Given the description of an element on the screen output the (x, y) to click on. 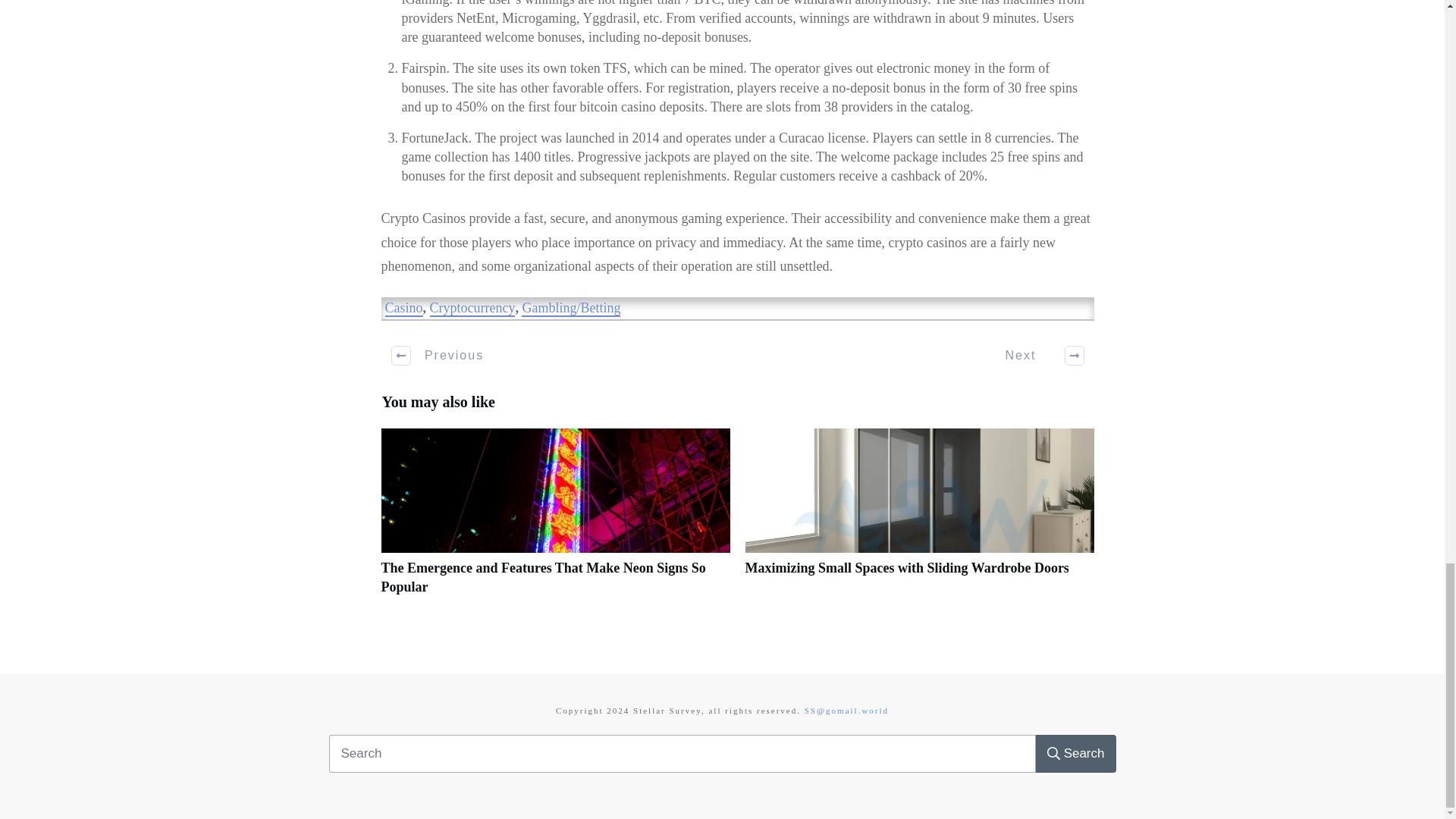
Previous (438, 355)
Cryptocurrency (472, 308)
Cryptocurrency (472, 308)
The Emergence and Features That Make Neon Signs So Popular (554, 519)
The Emergence and Features That Make Neon Signs So Popular (542, 577)
Maximizing Small Spaces with Sliding Wardrobe Doors (906, 567)
Next (1036, 355)
Maximizing Small Spaces with Sliding Wardrobe Doors (906, 567)
The Emergence and Features That Make Neon Signs So Popular (542, 577)
Casino (404, 308)
